Given the description of an element on the screen output the (x, y) to click on. 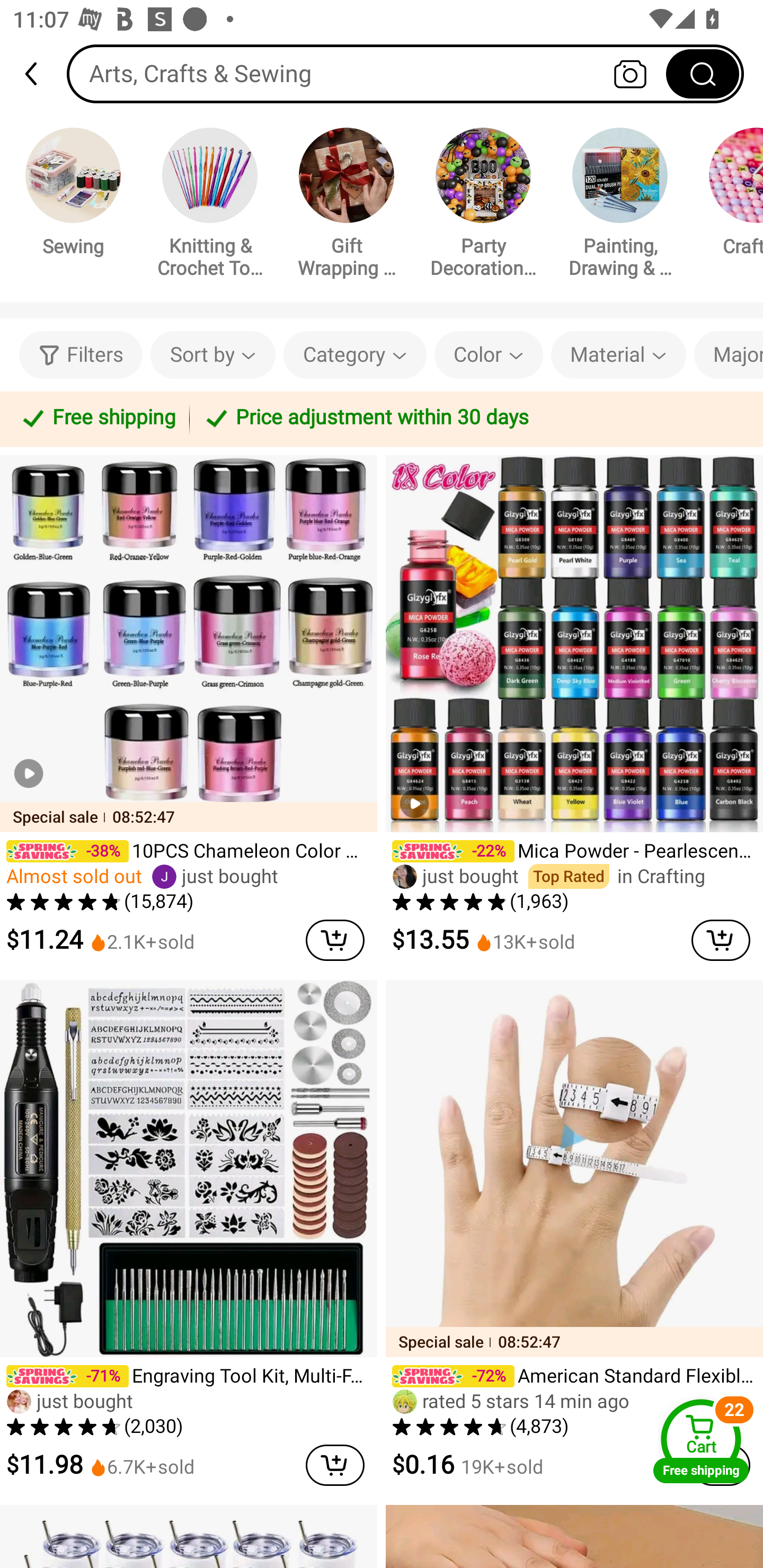
back (39, 73)
Arts, Crafts & Sewing (405, 73)
Sewing (73, 195)
Knitting & Crochet Tools (209, 205)
Gift Wrapping Supplies (346, 205)
Party Decorations & Supplies (483, 205)
Painting, Drawing & Art Supplies (619, 205)
Filters (80, 354)
Sort by (212, 354)
Category (354, 354)
Color (488, 354)
Material (617, 354)
Free shipping (97, 418)
Price adjustment within 30 days (472, 418)
cart delete (334, 939)
cart delete (720, 939)
Cart Free shipping Cart (701, 1440)
cart delete (334, 1465)
